Given the description of an element on the screen output the (x, y) to click on. 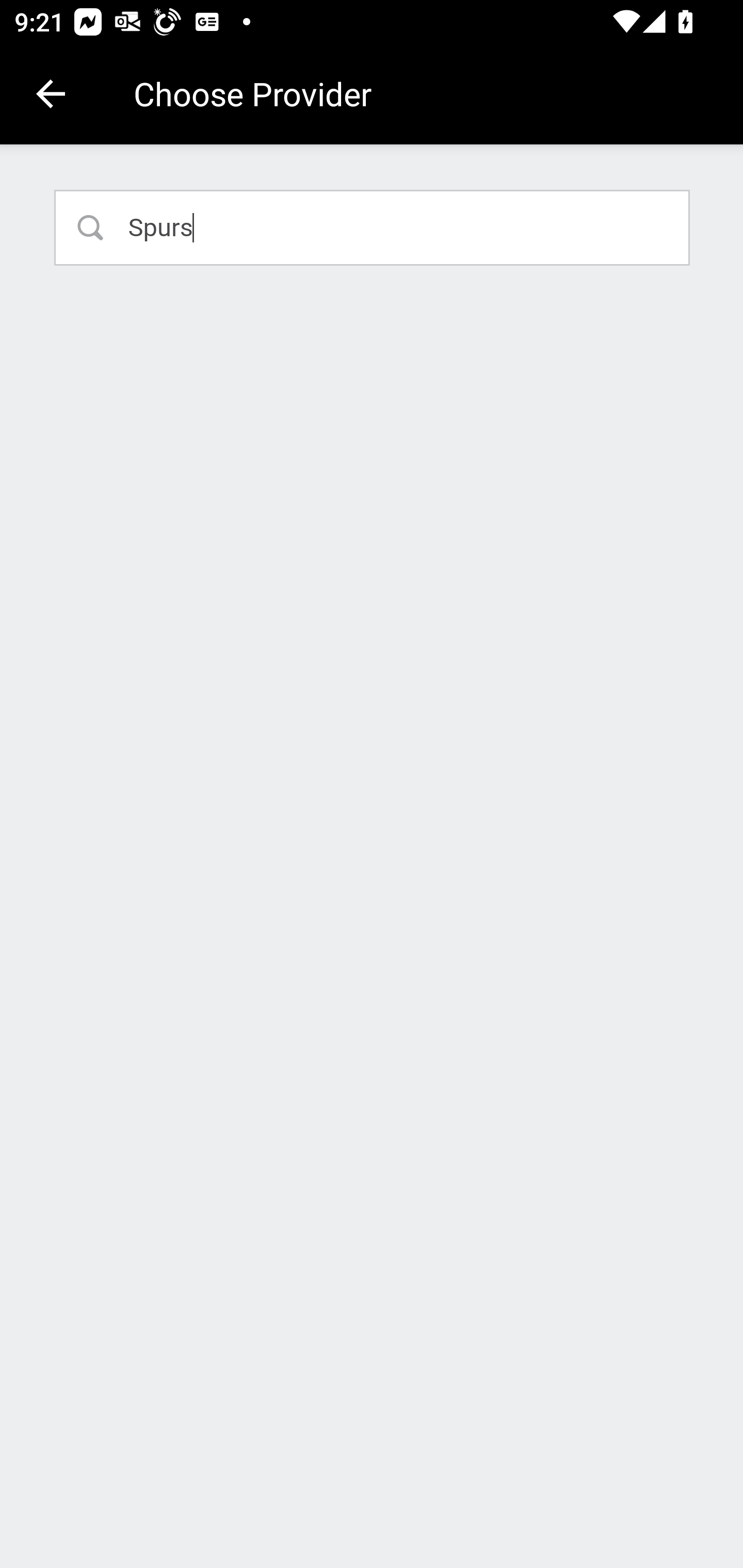
Navigate up (50, 93)
Spurs (372, 227)
